Given the description of an element on the screen output the (x, y) to click on. 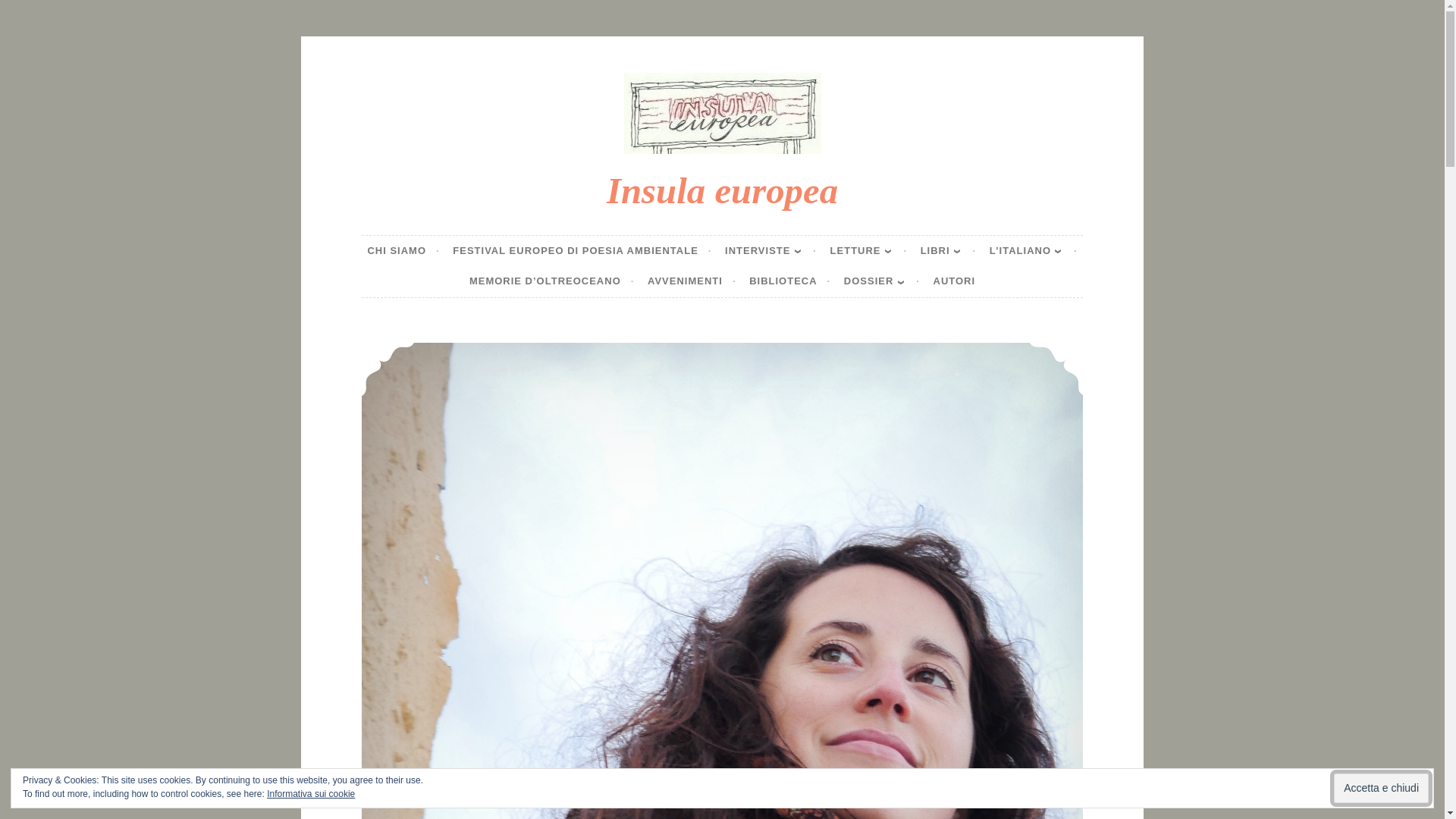
LETTURE (868, 250)
Accetta e chiudi (1380, 788)
INTERVISTE (770, 250)
FESTIVAL EUROPEO DI POESIA AMBIENTALE (581, 250)
DOSSIER (882, 281)
Insula europea (722, 190)
BIBLIOTECA (789, 281)
AUTORI (954, 281)
LIBRI (947, 250)
CHI SIAMO (402, 250)
AVVENIMENTI (691, 281)
